Given the description of an element on the screen output the (x, y) to click on. 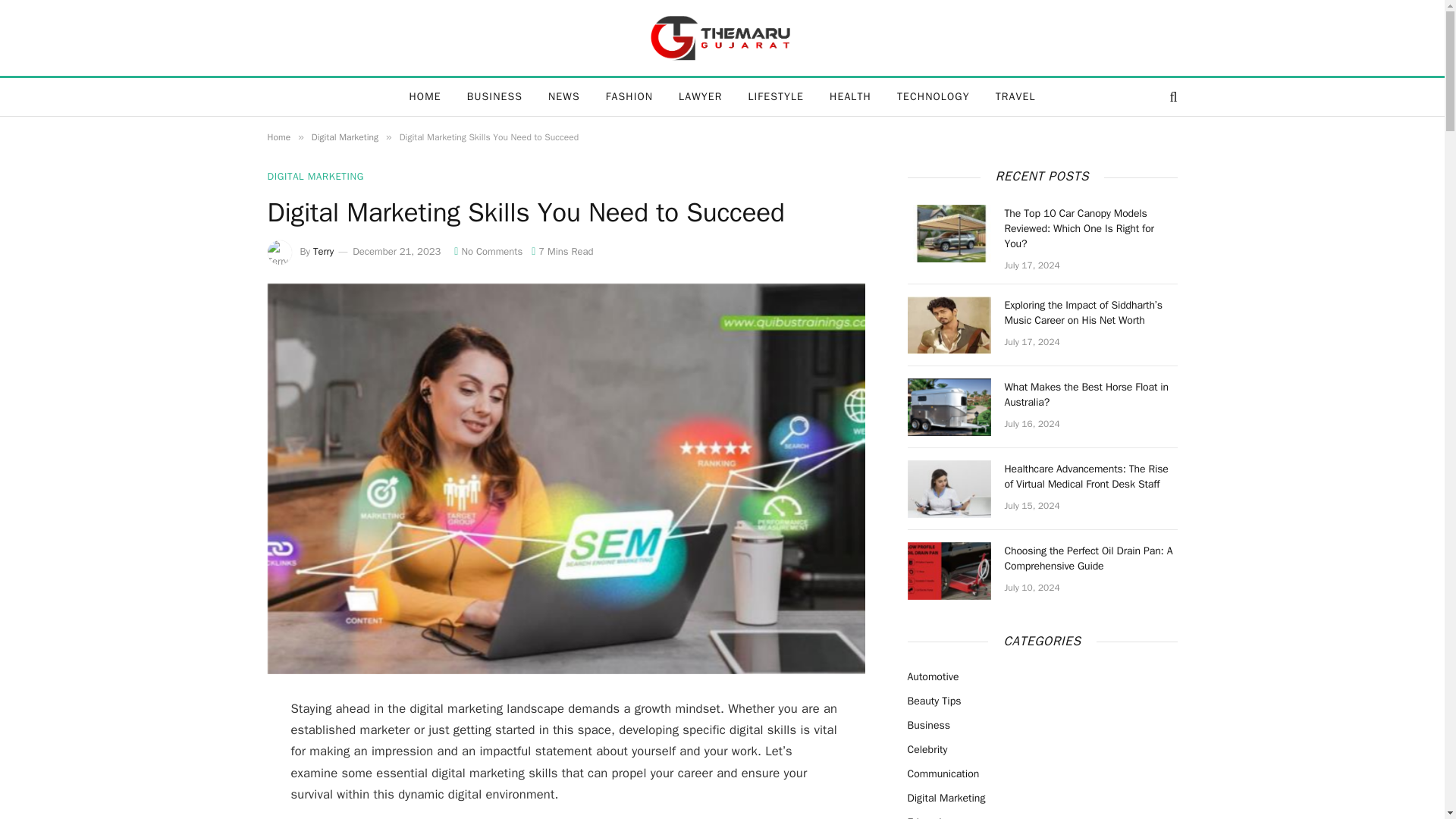
HEALTH (849, 96)
BUSINESS (494, 96)
LIFESTYLE (775, 96)
Digital Marketing (344, 137)
Posts by Terry (323, 250)
DIGITAL MARKETING (314, 176)
TRAVEL (1015, 96)
TECHNOLOGY (932, 96)
Home (277, 137)
LAWYER (700, 96)
Themaru Gujarat (721, 38)
NEWS (563, 96)
No Comments (488, 250)
HOME (424, 96)
